Given the description of an element on the screen output the (x, y) to click on. 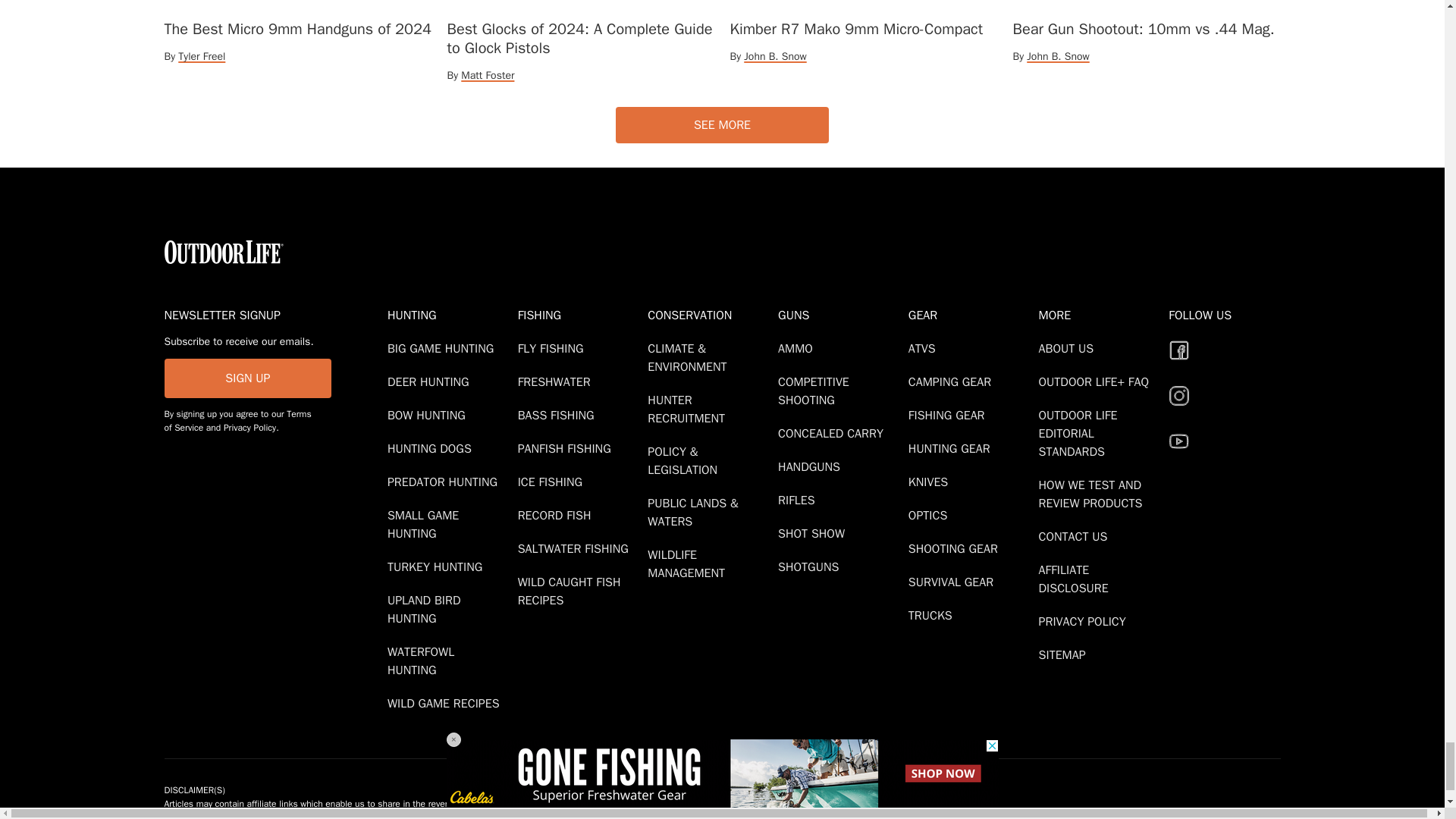
Hunting (449, 315)
Big Game Hunting (443, 348)
